Given the description of an element on the screen output the (x, y) to click on. 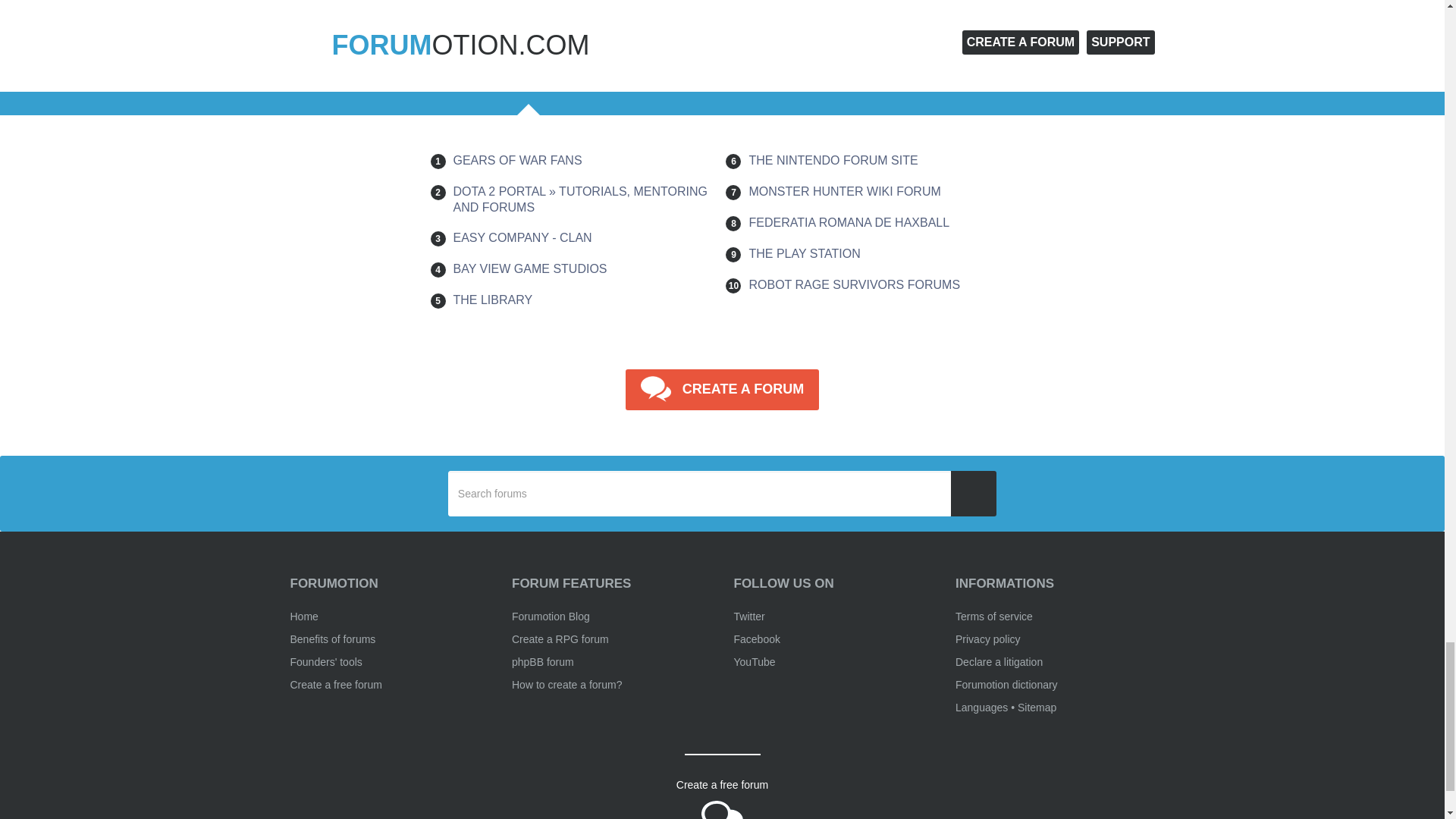
THE LIBRARY (492, 299)
GEARS OF WAR FANS (517, 160)
EASY COMPANY - CLAN (522, 237)
BAY VIEW GAME STUDIOS (529, 268)
MOST ACTIVE FORUMS (529, 42)
TOP SEARCHES OF THE MOMENT (875, 42)
